Given the description of an element on the screen output the (x, y) to click on. 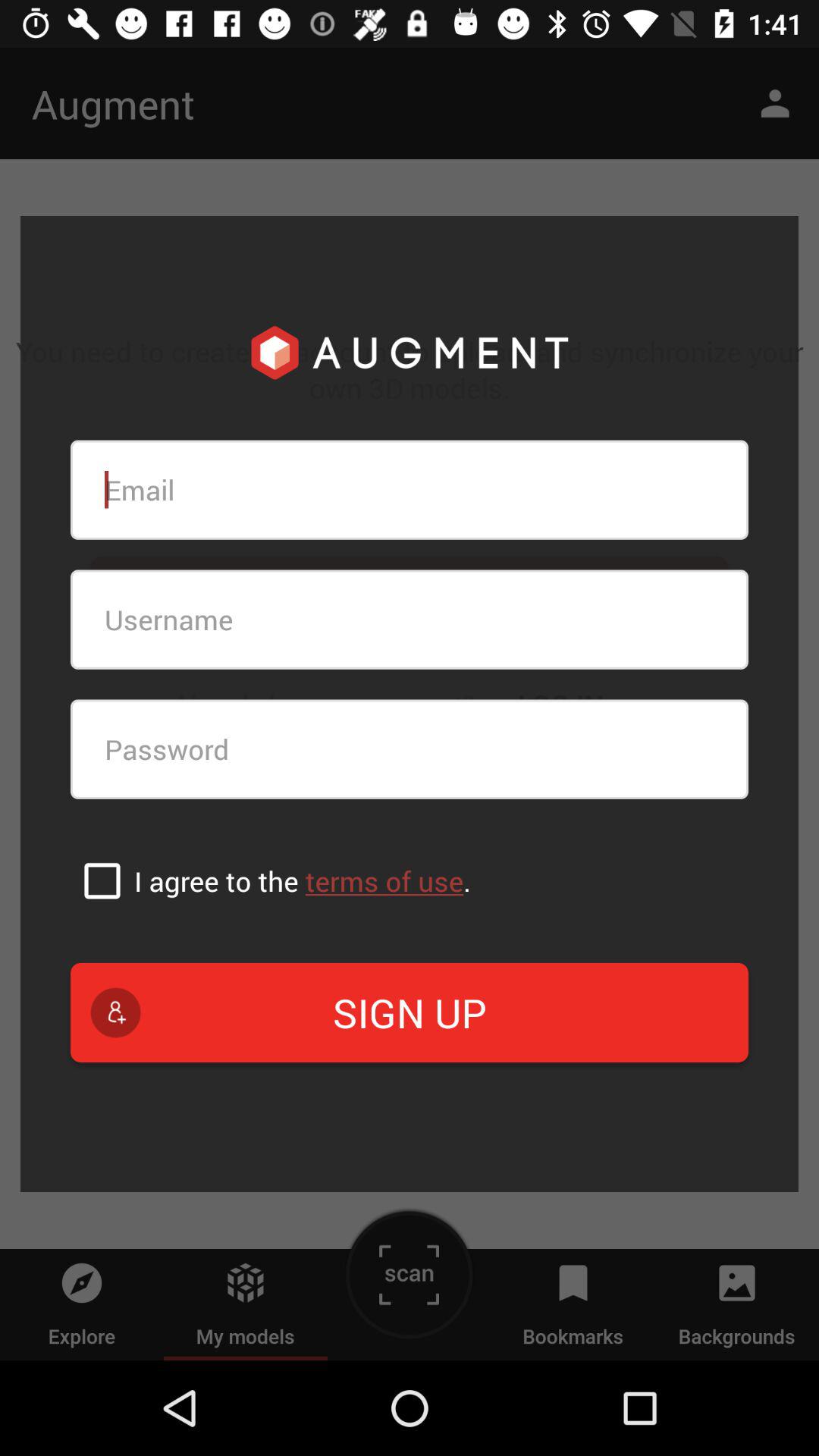
launch the item next to i agree to icon (102, 880)
